Given the description of an element on the screen output the (x, y) to click on. 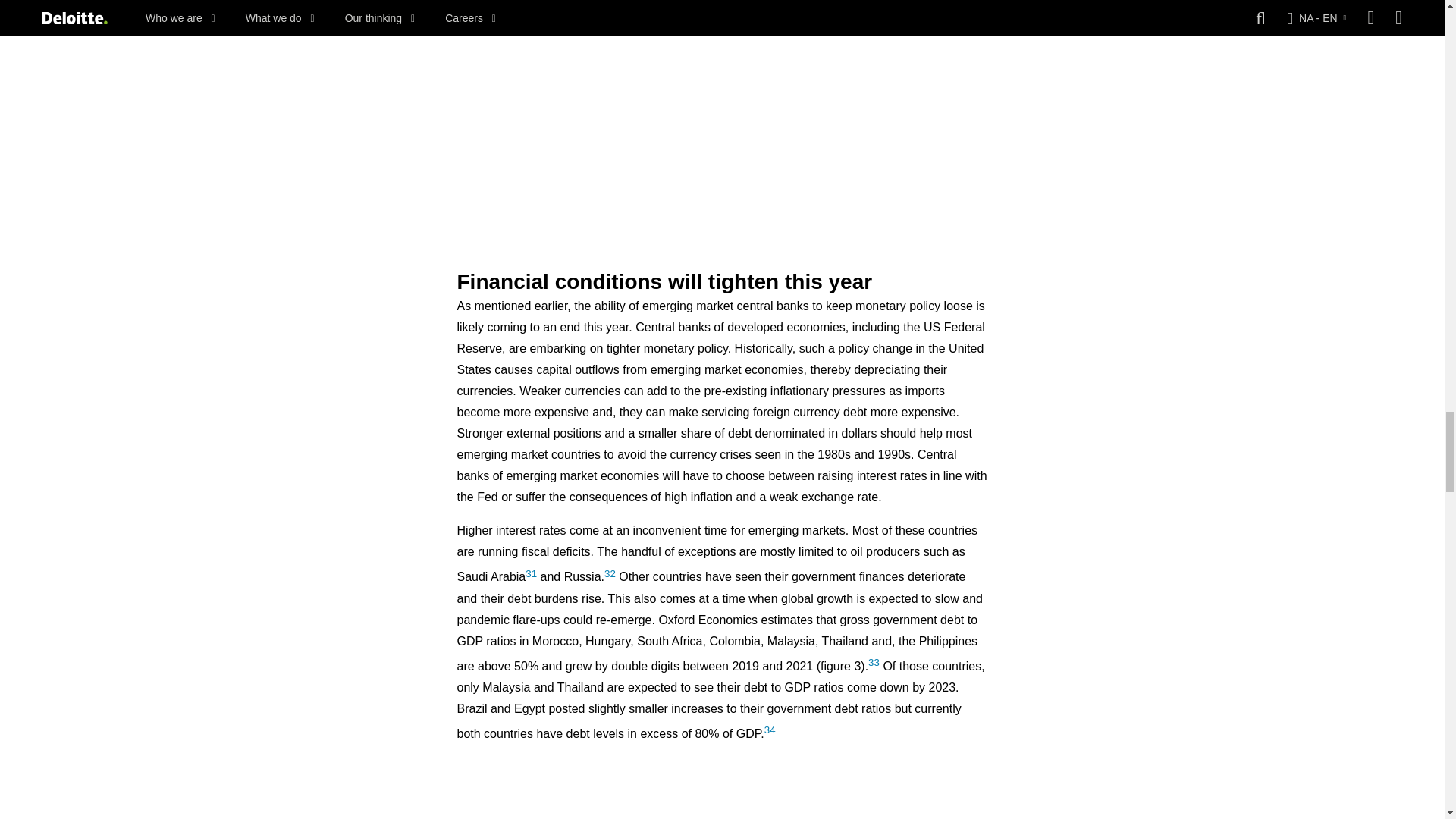
Figure2 (722, 110)
